Given the description of an element on the screen output the (x, y) to click on. 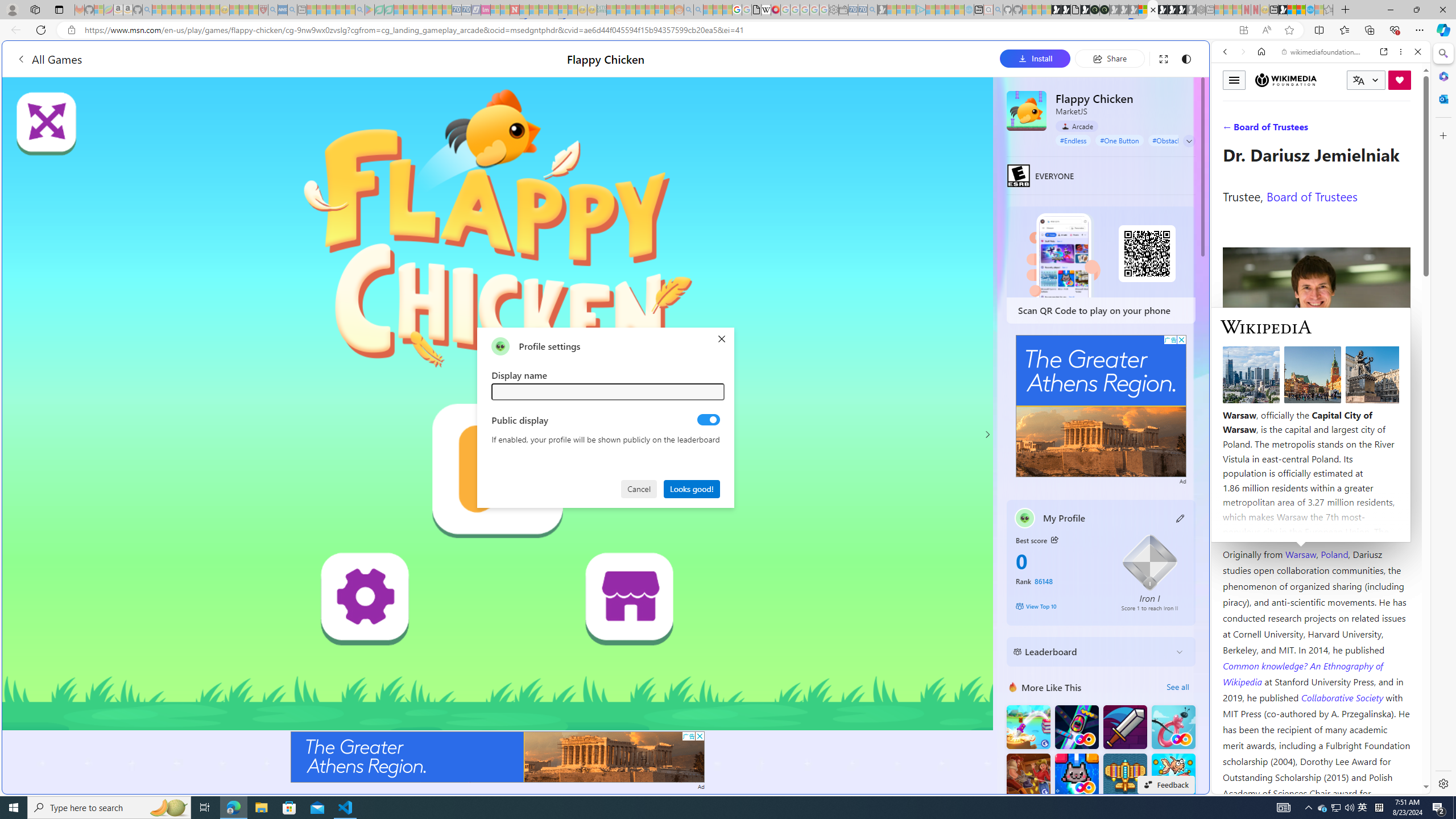
Bumper Car FRVR (1076, 726)
New Report Confirms 2023 Was Record Hot | Watch - Sleeping (195, 9)
Poland (1334, 554)
Kinda Frugal - MSN - Sleeping (649, 9)
This site scope (1259, 102)
Arcade (1076, 125)
Bluey: Let's Play! - Apps on Google Play - Sleeping (369, 9)
Bing Real Estate - Home sales and rental listings - Sleeping (872, 9)
Leaderboard (1091, 651)
